Given the description of an element on the screen output the (x, y) to click on. 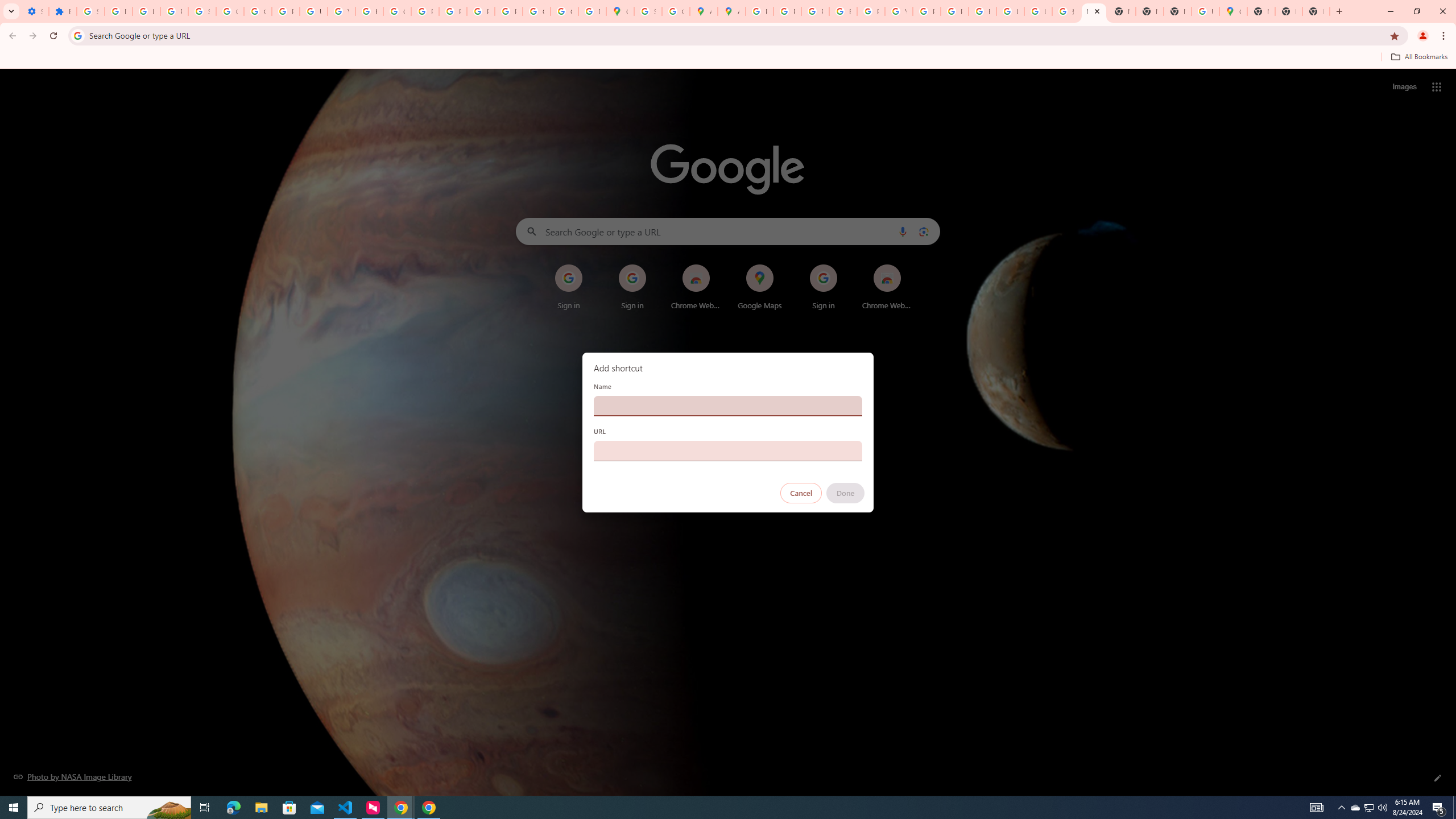
URL (727, 450)
Sign in - Google Accounts (202, 11)
Sign in - Google Accounts (647, 11)
